Given the description of an element on the screen output the (x, y) to click on. 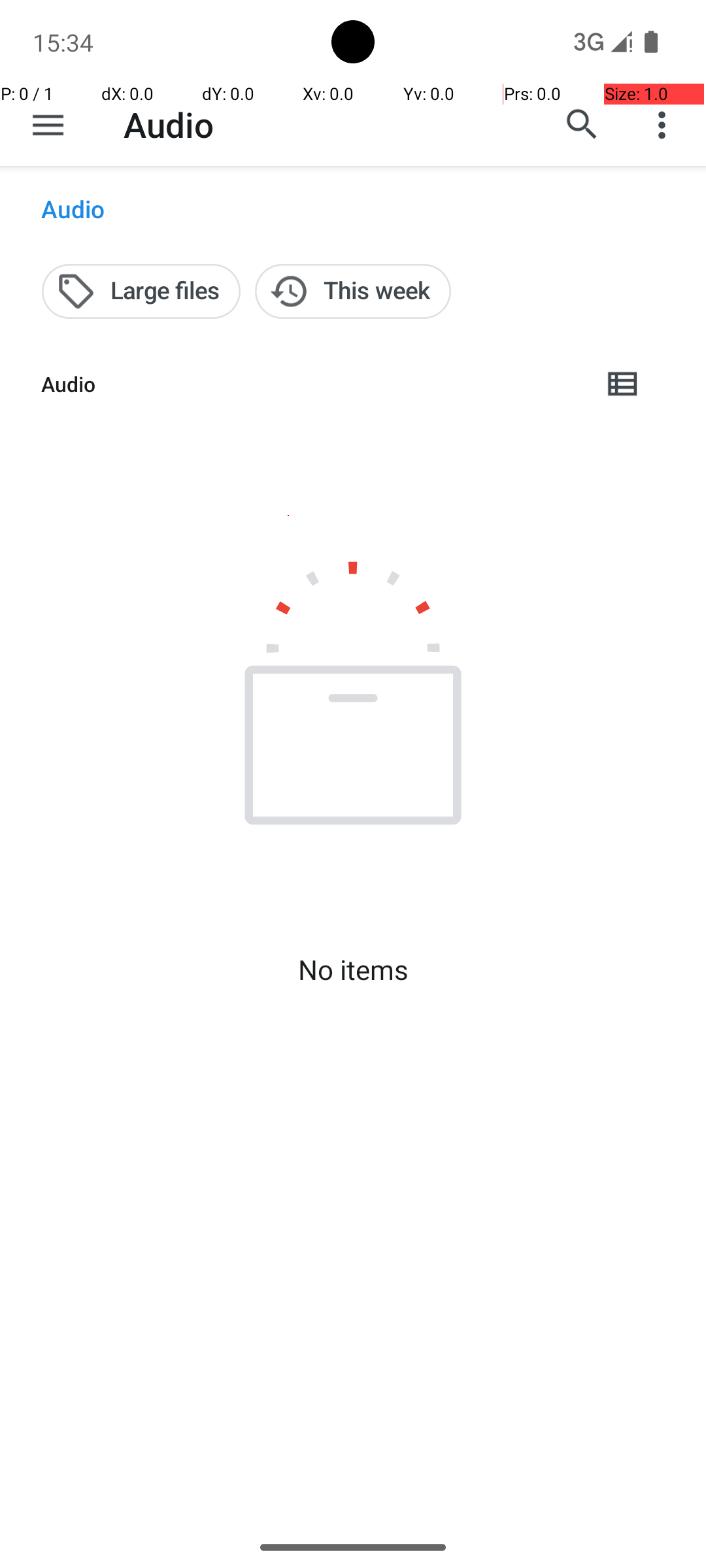
Show roots Element type: android.widget.ImageButton (48, 124)
Audio Element type: android.widget.TextView (168, 124)
List view Element type: android.widget.TextView (622, 384)
Large files Element type: android.widget.CompoundButton (140, 291)
This week Element type: android.widget.CompoundButton (352, 291)
No items Element type: android.widget.TextView (352, 968)
